Given the description of an element on the screen output the (x, y) to click on. 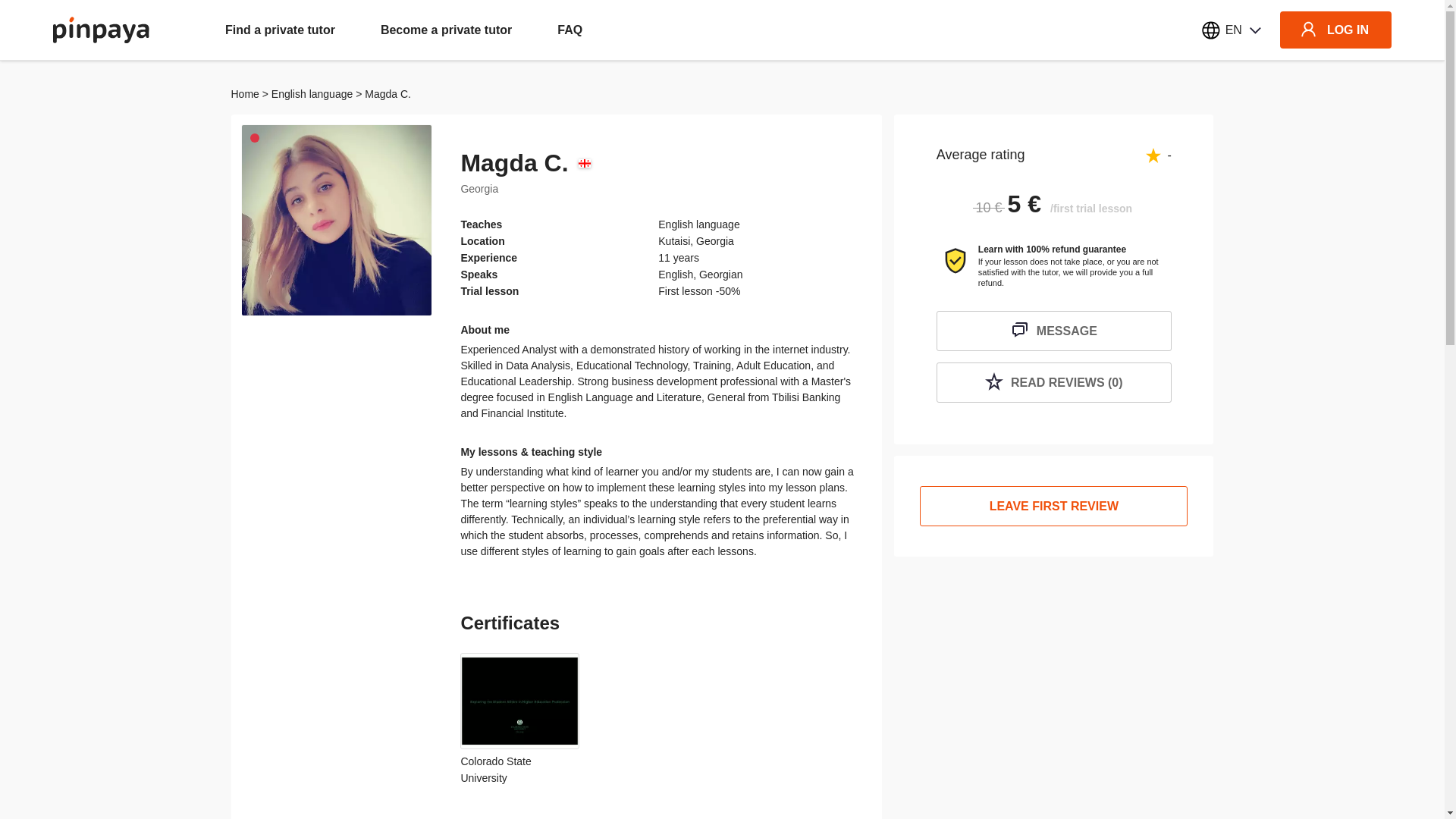
Find a private tutor (280, 29)
Log In (722, 538)
Home (244, 93)
Colorado State University (519, 717)
English language (311, 93)
Become a private tutor (445, 29)
LOG IN (1335, 29)
MESSAGE (1054, 331)
LEAVE FIRST REVIEW (1054, 506)
FAQ (570, 29)
